Given the description of an element on the screen output the (x, y) to click on. 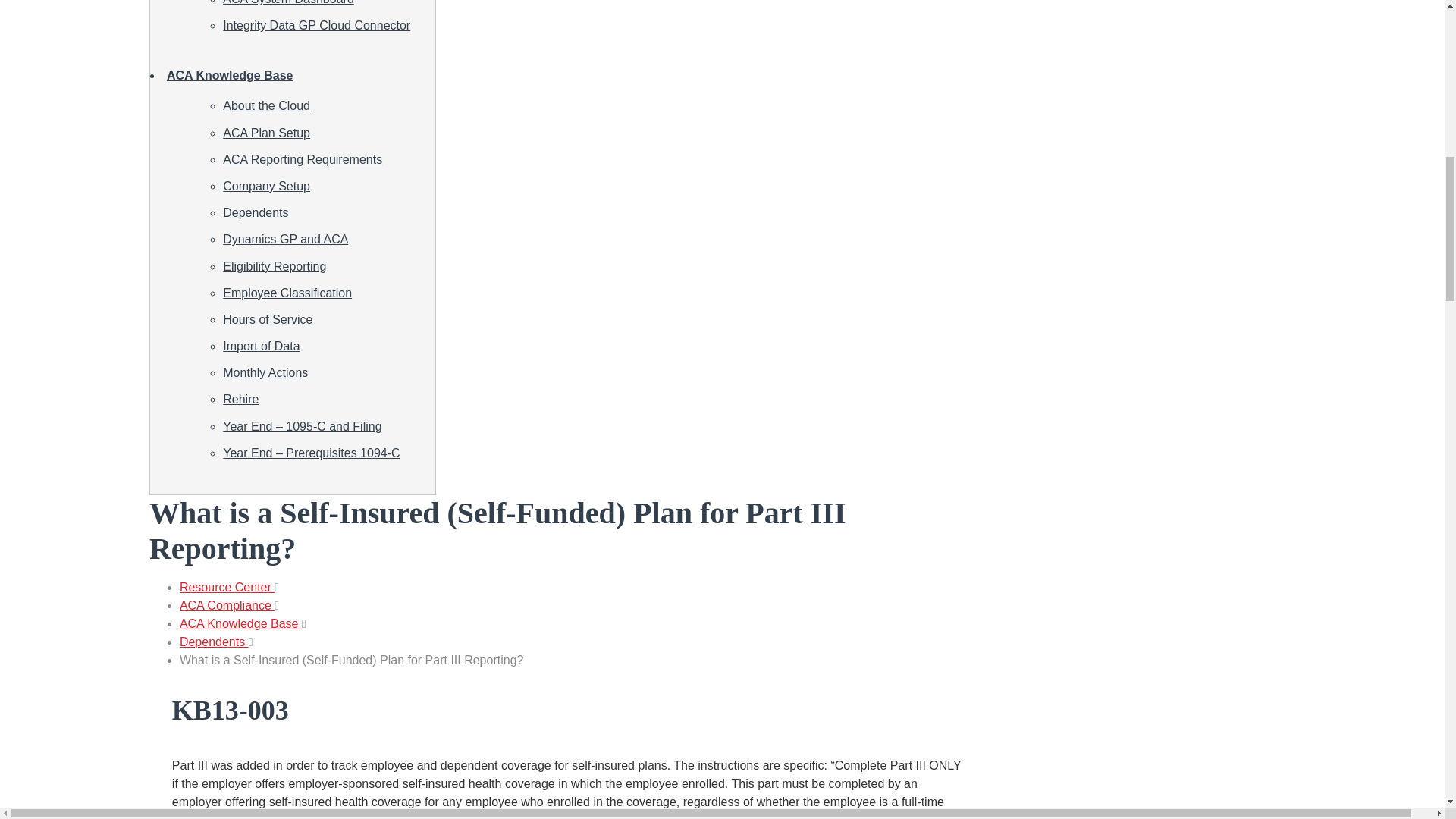
About the Cloud (266, 105)
Integrity Data GP Cloud Connector (316, 24)
Hours of Service (267, 318)
ACA Reporting Requirements (301, 159)
Monthly Actions (264, 372)
ACA Plan Setup (266, 132)
Rehire (240, 399)
ACA Knowledge Base (230, 74)
Dynamics GP and ACA (284, 238)
Dependents (255, 212)
